Given the description of an element on the screen output the (x, y) to click on. 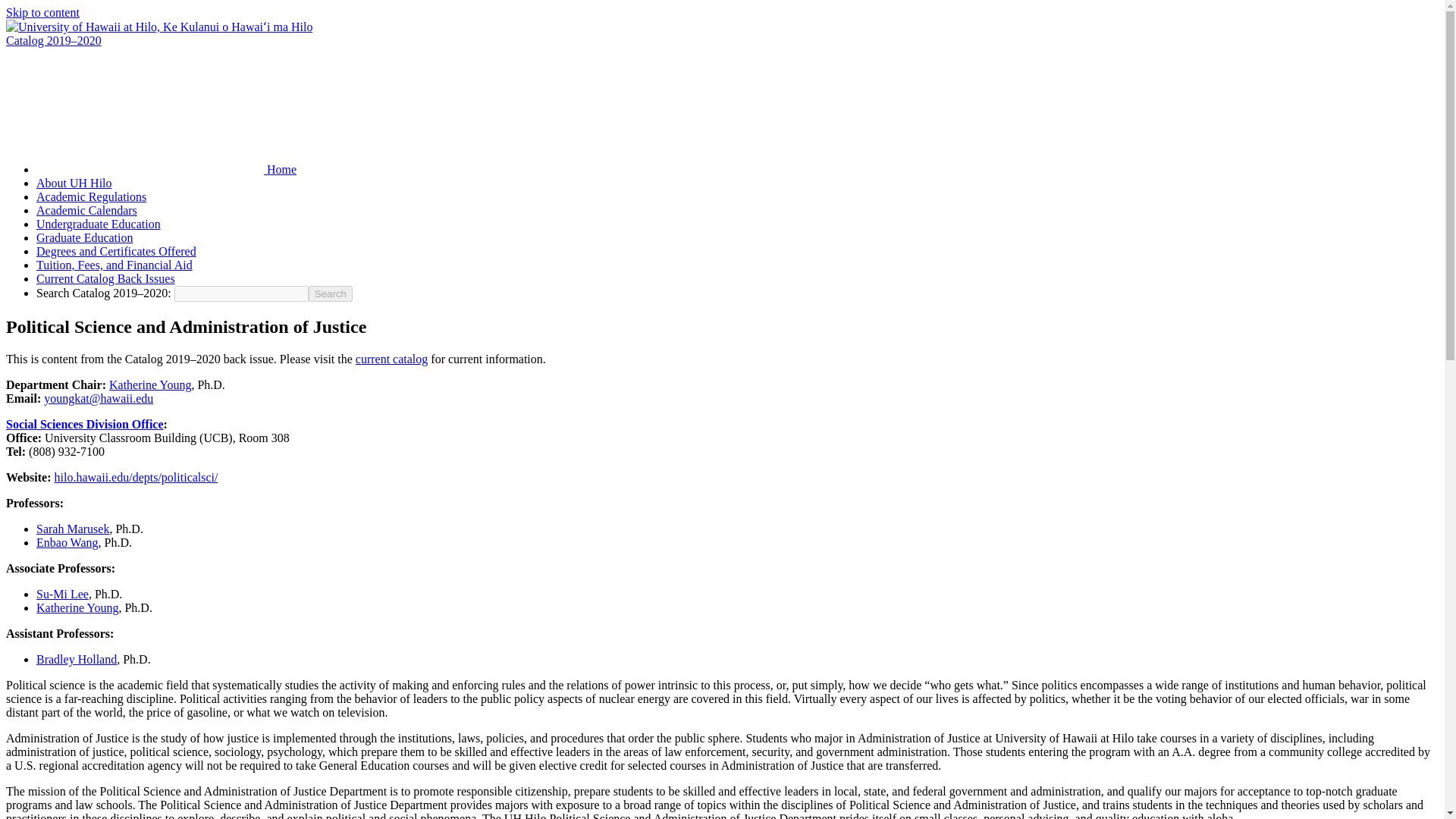
Su-Mi Lee (62, 594)
Social Sciences Division Office (84, 423)
Katherine Young (149, 384)
Skip to content (42, 11)
About UH Hilo (74, 182)
Academic Regulations (91, 196)
Katherine Young (76, 607)
Graduate Education (84, 237)
current catalog (391, 358)
Academic Calendars (86, 210)
Sarah Marusek (72, 528)
Bradley Holland (76, 658)
Tuition, Fees, and Financial Aid (114, 264)
Search (330, 293)
Enbao Wang (67, 542)
